Given the description of an element on the screen output the (x, y) to click on. 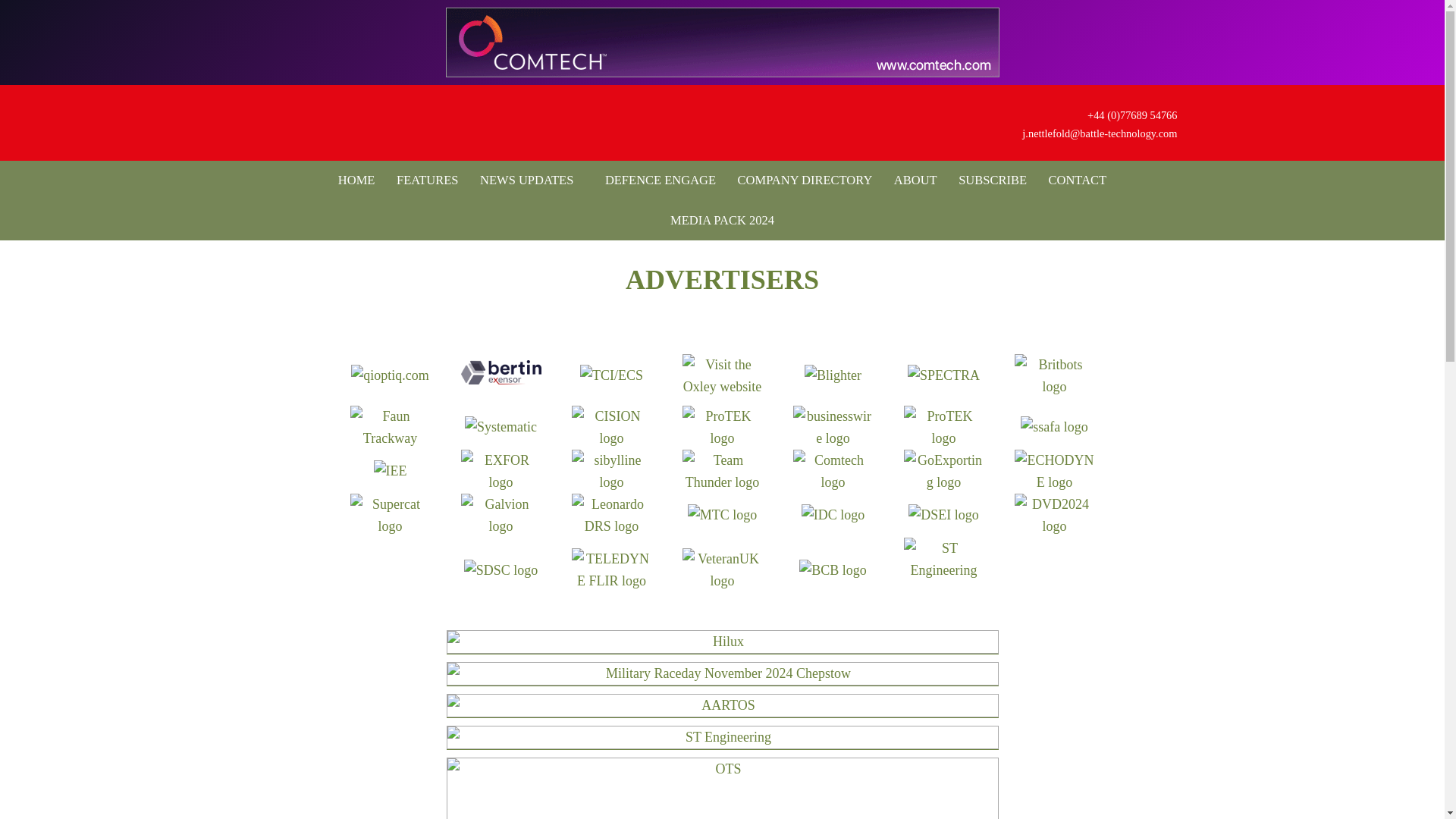
BATTLESPACE Updates (380, 122)
MEDIA PACK 2024 (722, 219)
CONTACT (1077, 180)
ABOUT (915, 180)
COMPANY DIRECTORY (805, 180)
NEWS UPDATES (526, 180)
DEFENCE ENGAGE (655, 180)
Opens PDF in new window. (722, 219)
SUBSCRIBE (992, 180)
FEATURES (427, 180)
qioptiq.com (389, 375)
HOME (356, 180)
